Given the description of an element on the screen output the (x, y) to click on. 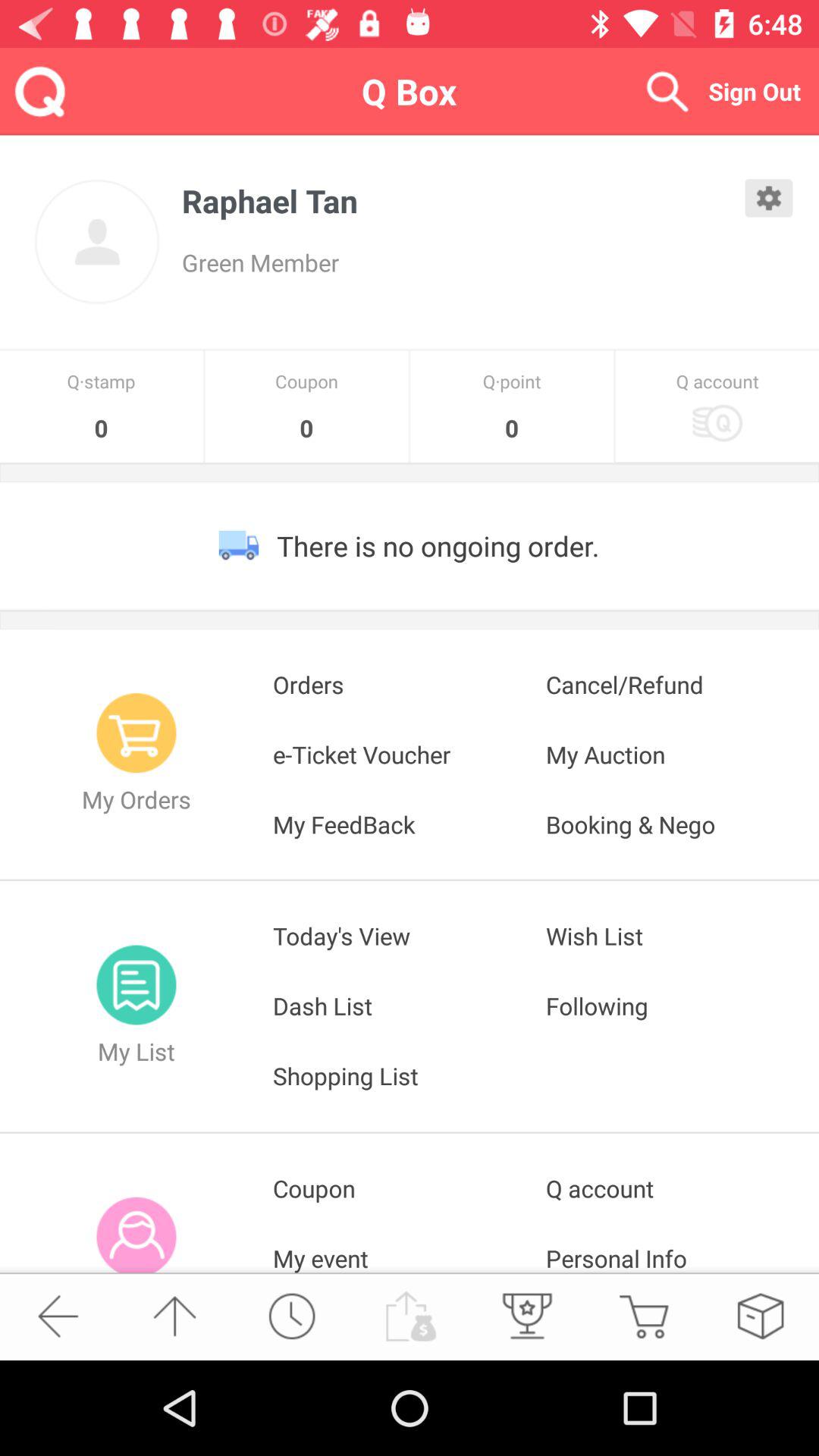
go to profile (96, 241)
